Given the description of an element on the screen output the (x, y) to click on. 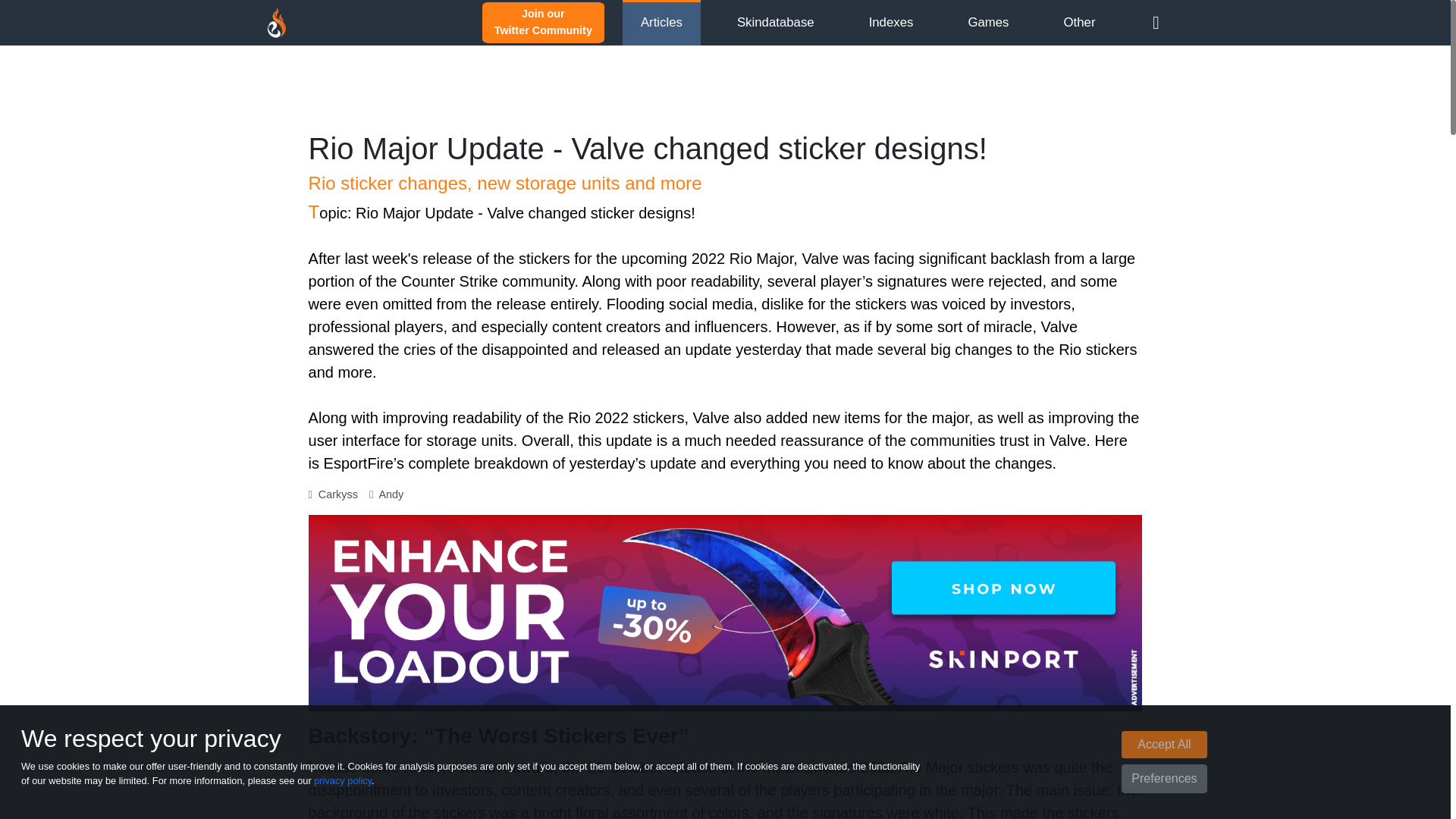
Carkyss (339, 494)
privacy policy (342, 780)
Skindatabase (774, 22)
Preferences (1164, 778)
Andy (390, 494)
Articles (661, 22)
Games (988, 22)
Accept All (542, 21)
Indexes (1164, 744)
